Given the description of an element on the screen output the (x, y) to click on. 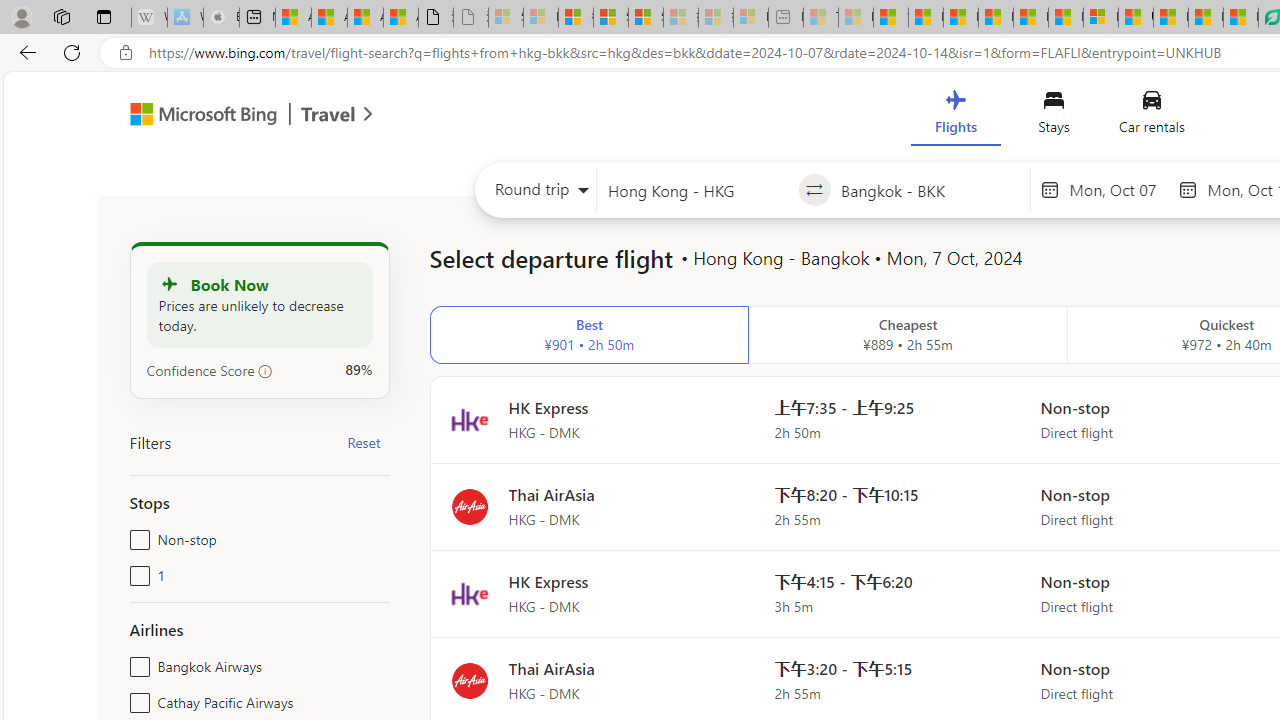
Class: msft-travel-logo (328, 114)
Buy iPad - Apple - Sleeping (221, 17)
Select trip type (535, 193)
Sign in to your Microsoft account - Sleeping (506, 17)
Class: autosuggest-container full-height no-y-padding (930, 190)
Top Stories - MSN - Sleeping (820, 17)
Flights (955, 116)
Bangkok Airways (136, 662)
Microsoft Bing (194, 116)
US Heat Deaths Soared To Record High Last Year (1135, 17)
